Given the description of an element on the screen output the (x, y) to click on. 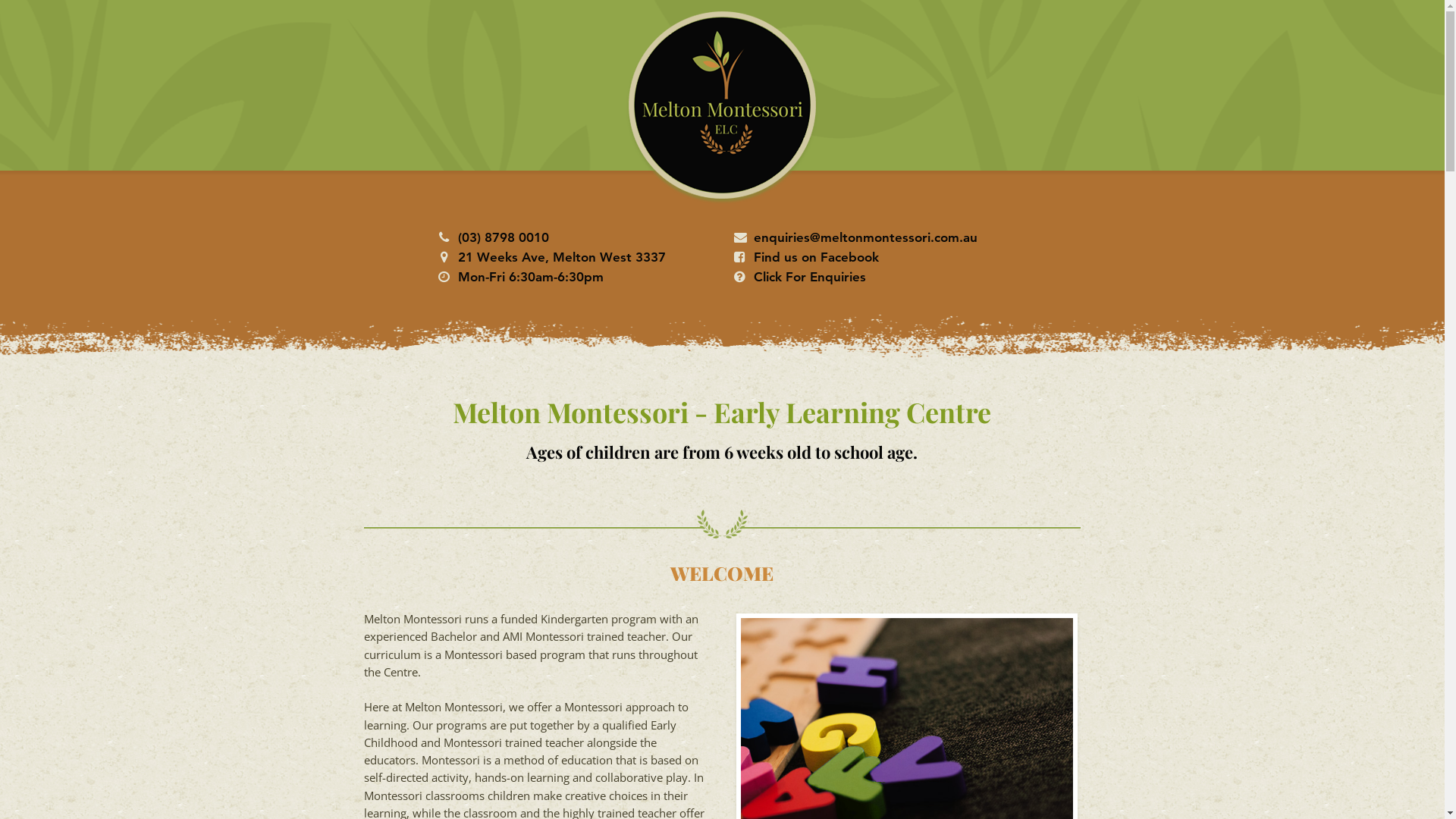
Find us on Facebook Element type: text (815, 256)
(03) 8798 0010 Element type: text (503, 236)
enquiries@meltonmontessori.com.au Element type: text (865, 236)
21 Weeks Ave, Melton West 3337 Element type: text (561, 256)
Click For Enquiries Element type: text (809, 276)
